Given the description of an element on the screen output the (x, y) to click on. 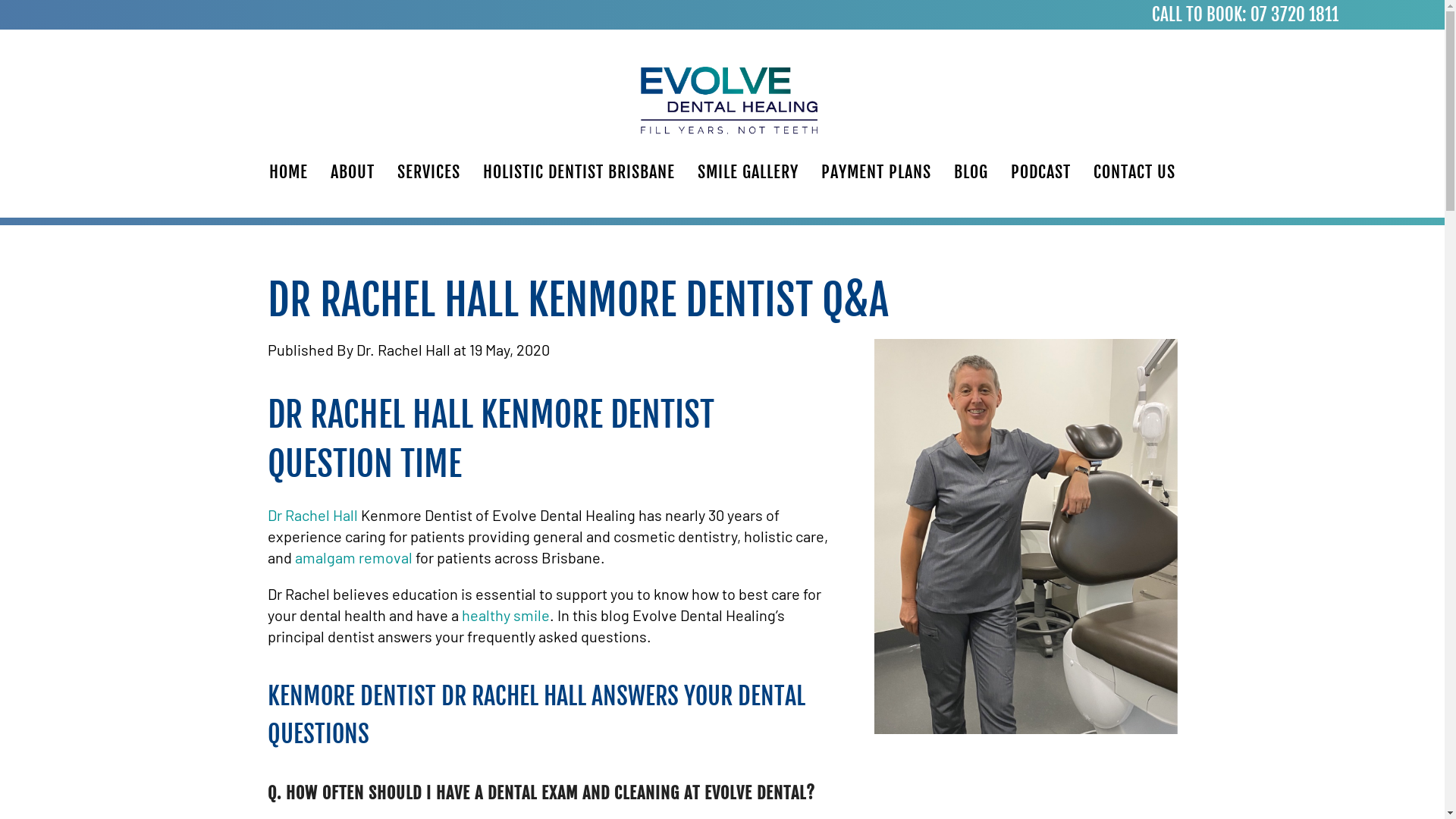
healthy smile Element type: text (505, 614)
PAYMENT PLANS Element type: text (875, 172)
SERVICES Element type: text (428, 172)
CONTACT US Element type: text (1134, 172)
PODCAST Element type: text (1040, 172)
HOLISTIC DENTIST BRISBANE Element type: text (578, 172)
HOME Element type: text (288, 172)
BLOG Element type: text (970, 172)
ABOUT Element type: text (352, 172)
Dr Rachel Hall Element type: text (313, 514)
07 3720 1811 Element type: text (1294, 14)
amalgam removal Element type: text (352, 557)
SMILE GALLERY Element type: text (747, 172)
